Given the description of an element on the screen output the (x, y) to click on. 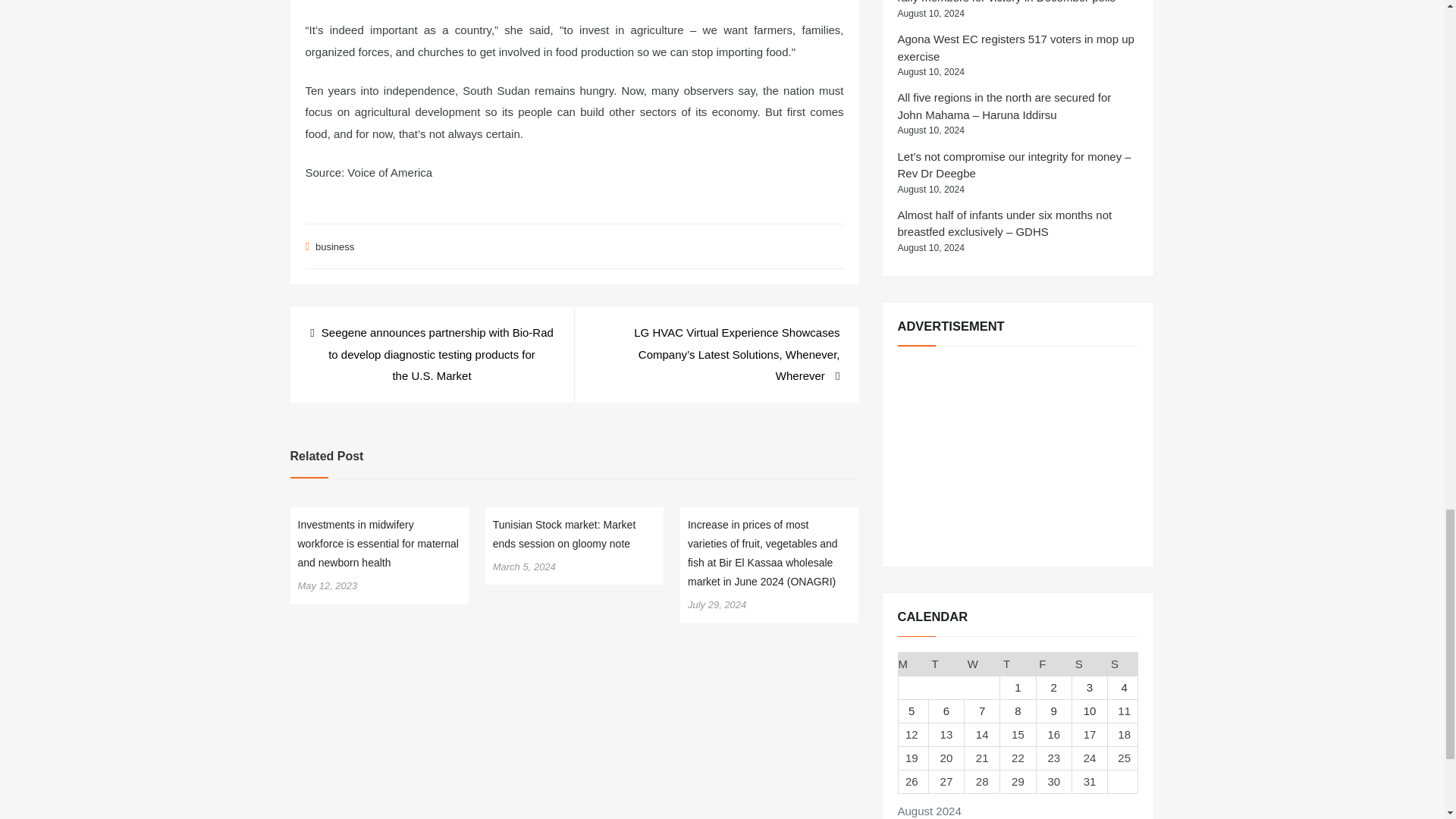
business (334, 246)
Friday (1053, 664)
Monday (913, 664)
Wednesday (981, 664)
Thursday (1017, 664)
Tuesday (945, 664)
Sunday (1123, 664)
Saturday (1088, 664)
